Given the description of an element on the screen output the (x, y) to click on. 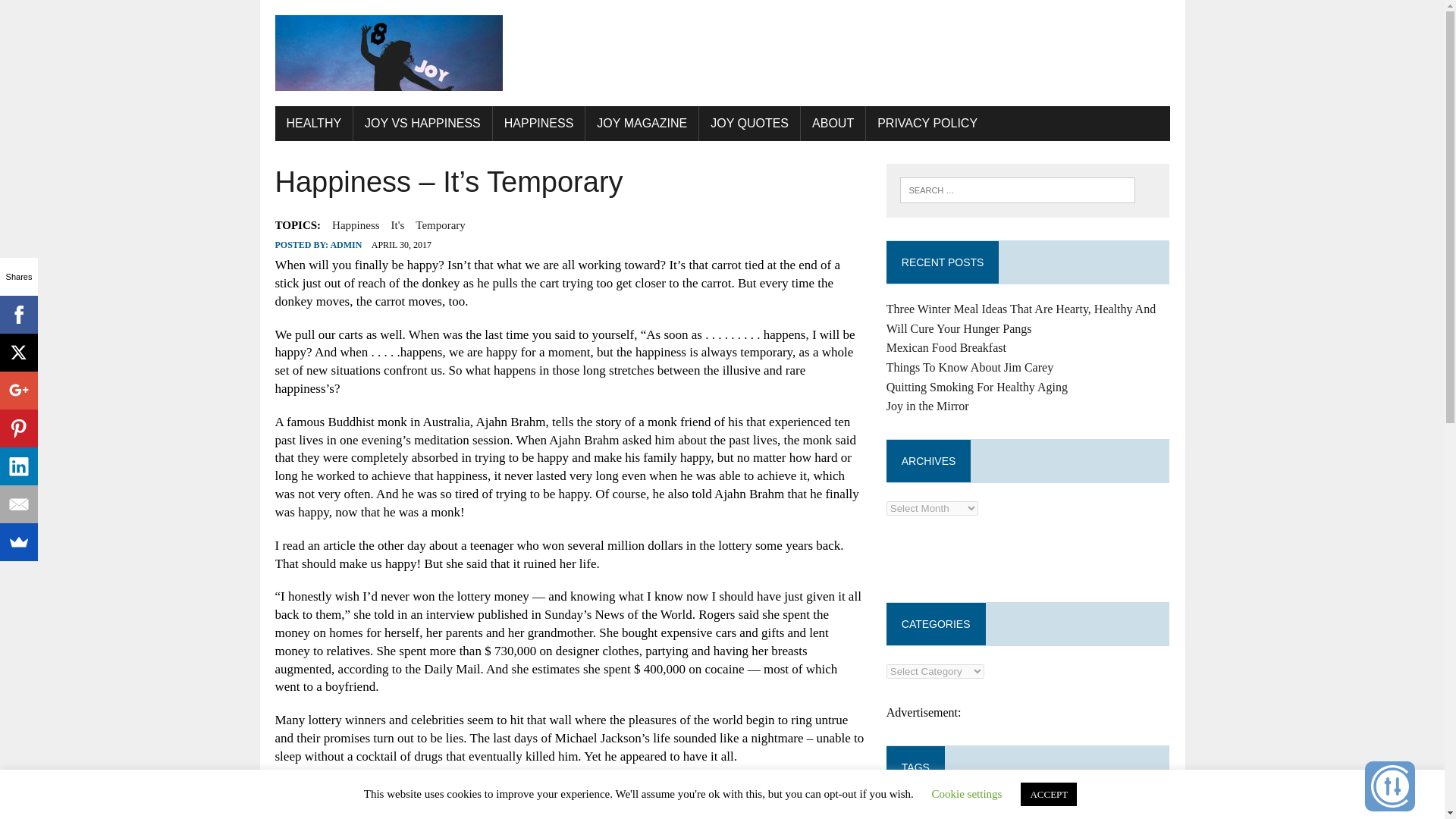
Happiness (355, 225)
Pinterest (18, 428)
JOY VS HAPPINESS (422, 123)
ABOUT (832, 123)
Breakfast (1138, 816)
Temporary (439, 225)
Joy in the Mirror (927, 405)
Email (18, 504)
JOY MAGAZINE (641, 123)
Between (1054, 814)
HEALTHY (313, 123)
PRIVACY POLICY (927, 123)
Facebook (18, 314)
